Given the description of an element on the screen output the (x, y) to click on. 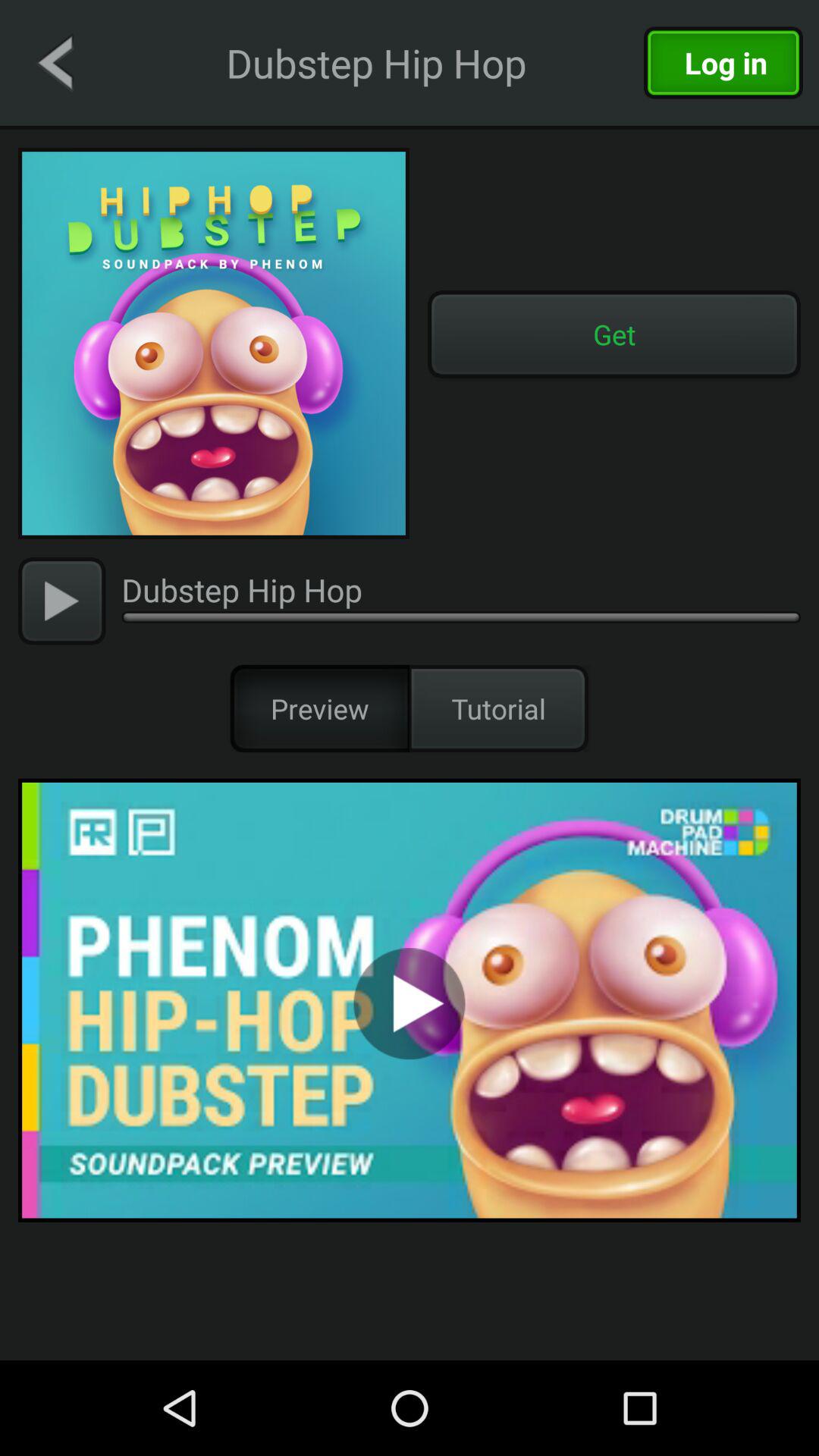
scroll to the preview icon (319, 708)
